Given the description of an element on the screen output the (x, y) to click on. 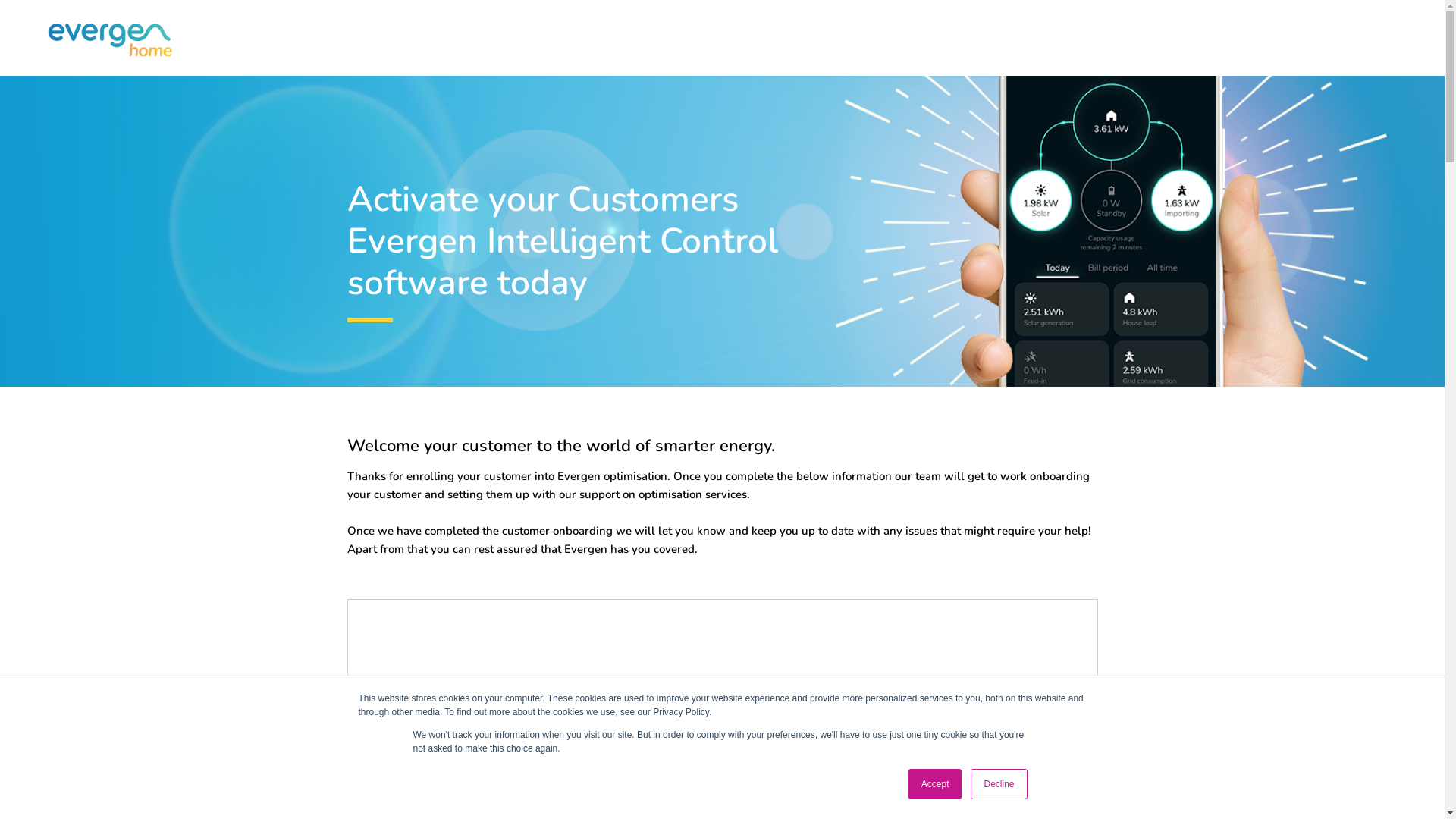
evergen_home_logo Element type: hover (109, 40)
Decline Element type: text (998, 783)
Accept Element type: text (935, 783)
